Given the description of an element on the screen output the (x, y) to click on. 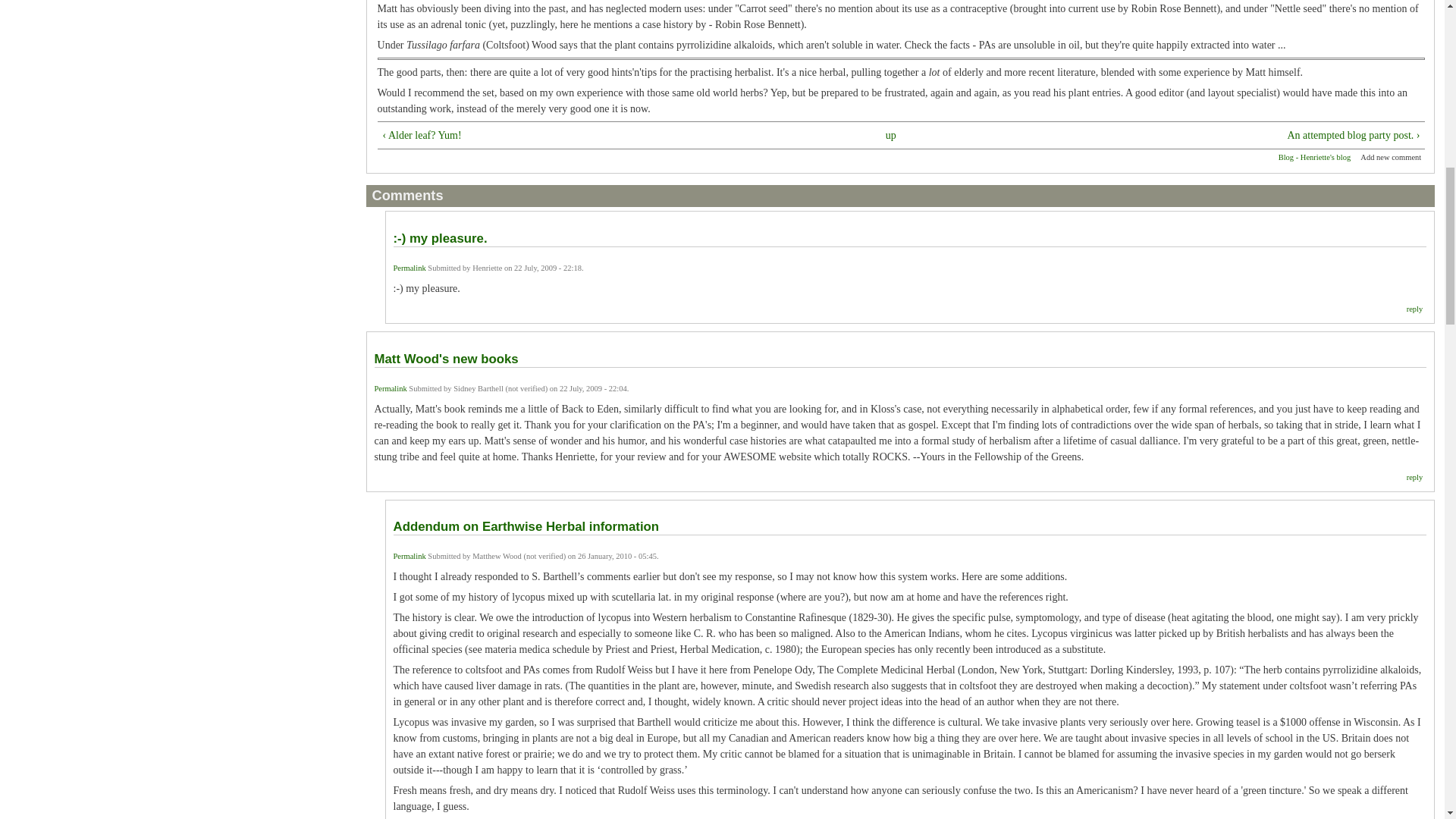
Blog - Henriette's blog (1314, 157)
Matt Wood's new books (446, 359)
Add new comment (1390, 157)
Share your thoughts and opinions related to this posting. (1390, 157)
Permalink (409, 267)
Addendum on Earthwise Herbal information (526, 526)
up (890, 135)
Read Blog - Henriette's latest blog entries. (1314, 157)
Permalink (409, 556)
reply (1414, 477)
Go to parent page (890, 135)
Go to previous page (600, 135)
Permalink (390, 388)
Go to next page (1202, 135)
reply (1414, 308)
